Given the description of an element on the screen output the (x, y) to click on. 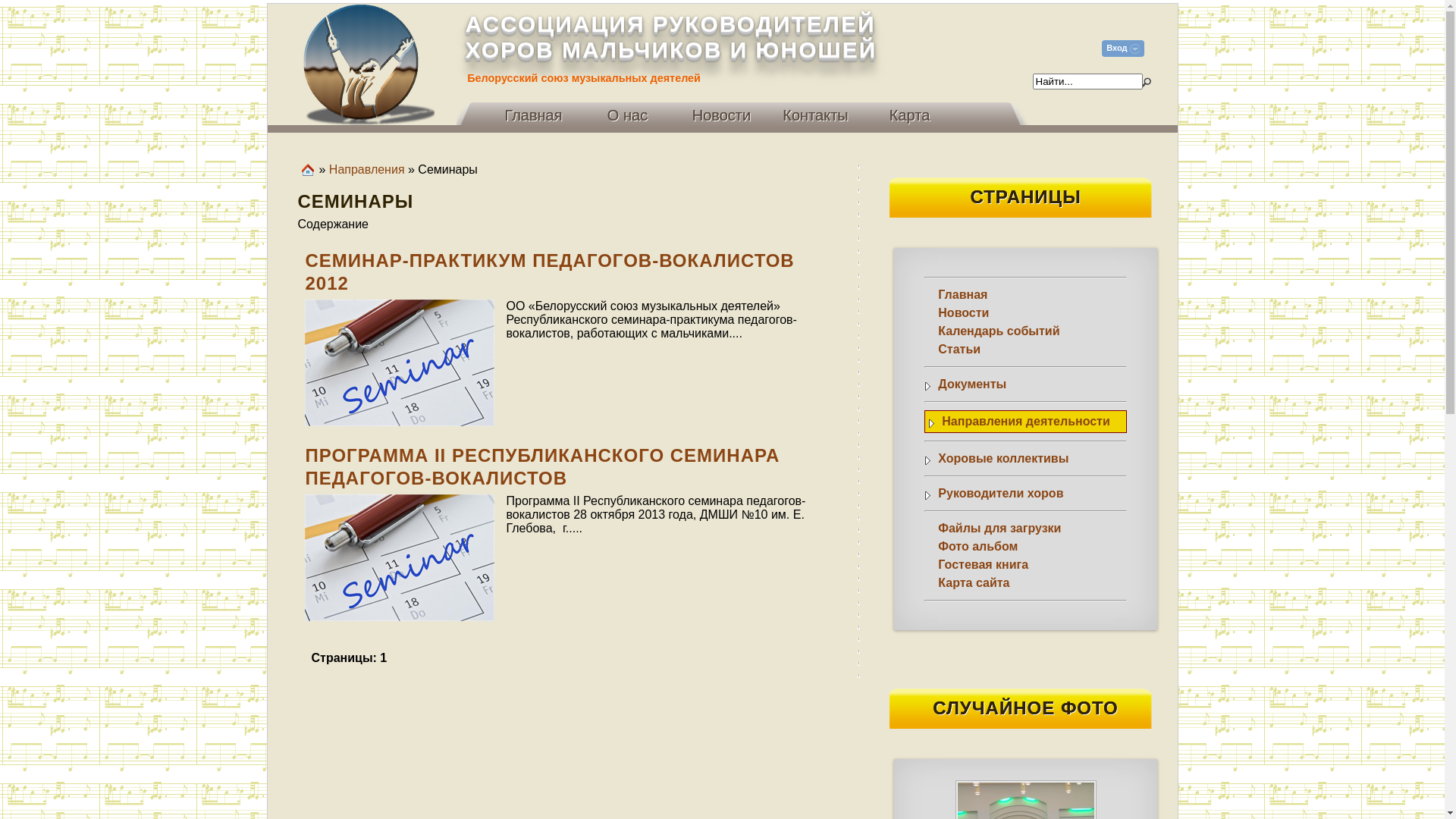
  Element type: text (1145, 81)
